Given the description of an element on the screen output the (x, y) to click on. 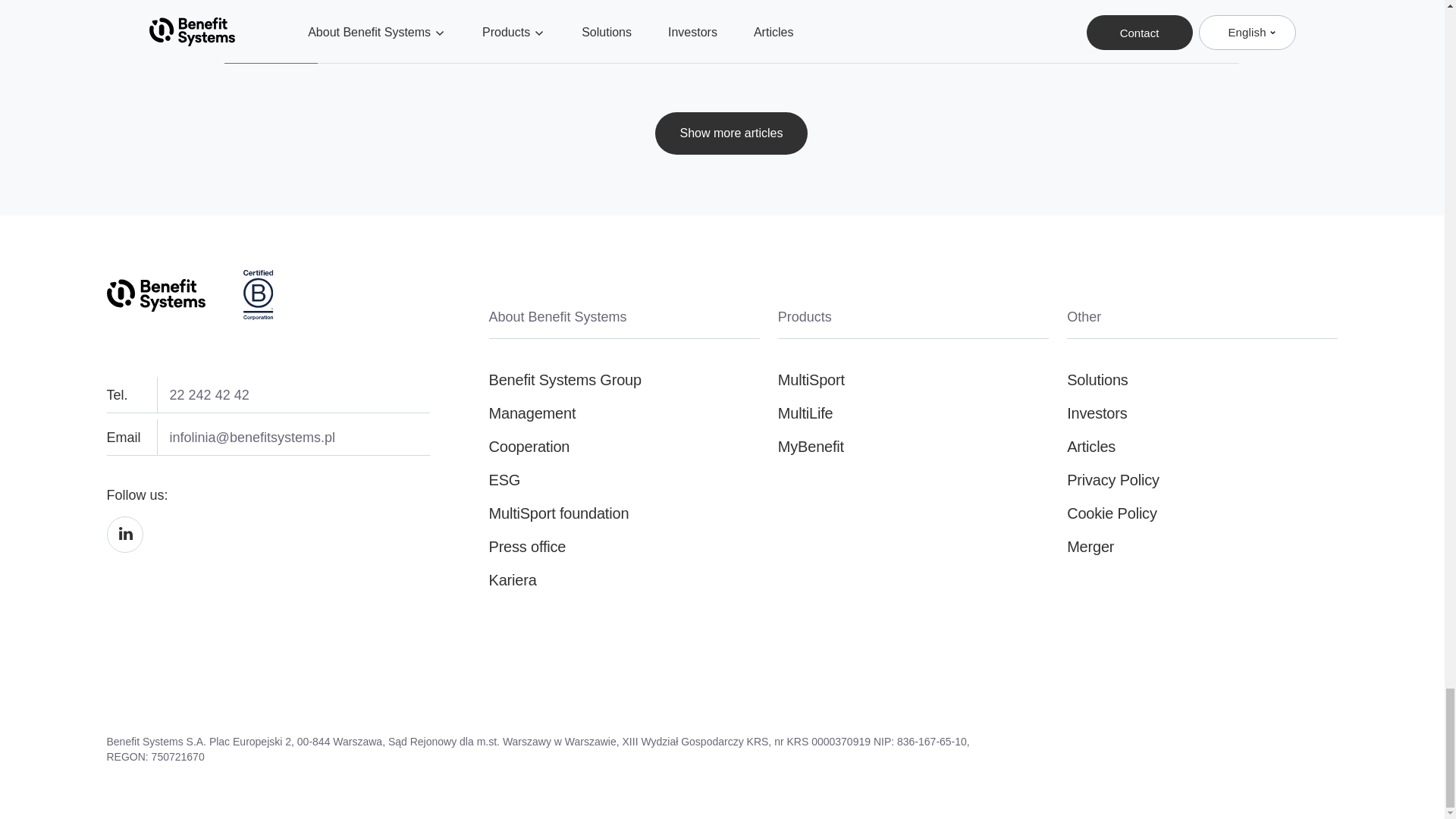
BenefitSystems na Linkedin (124, 550)
BenefitSystems (155, 295)
